Given the description of an element on the screen output the (x, y) to click on. 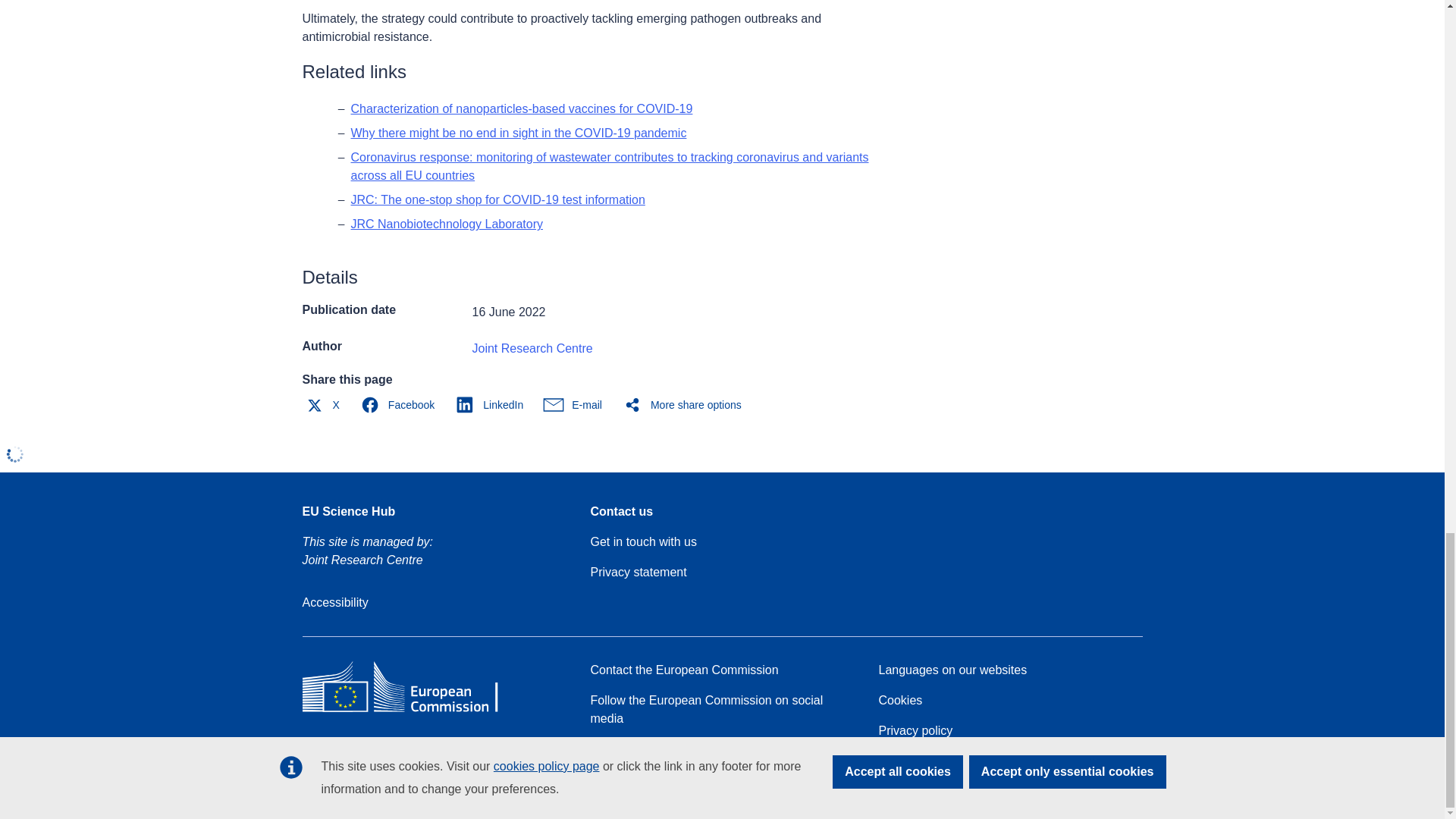
JRC: The one-stop shop for COVID-19 test information (497, 199)
Cookies (899, 700)
Privacy policy (914, 730)
Legal notice (910, 761)
European Commission (411, 711)
EU Science Hub (347, 511)
Facebook (401, 404)
Report an IT vulnerability (657, 779)
LinkedIn (492, 404)
